Given the description of an element on the screen output the (x, y) to click on. 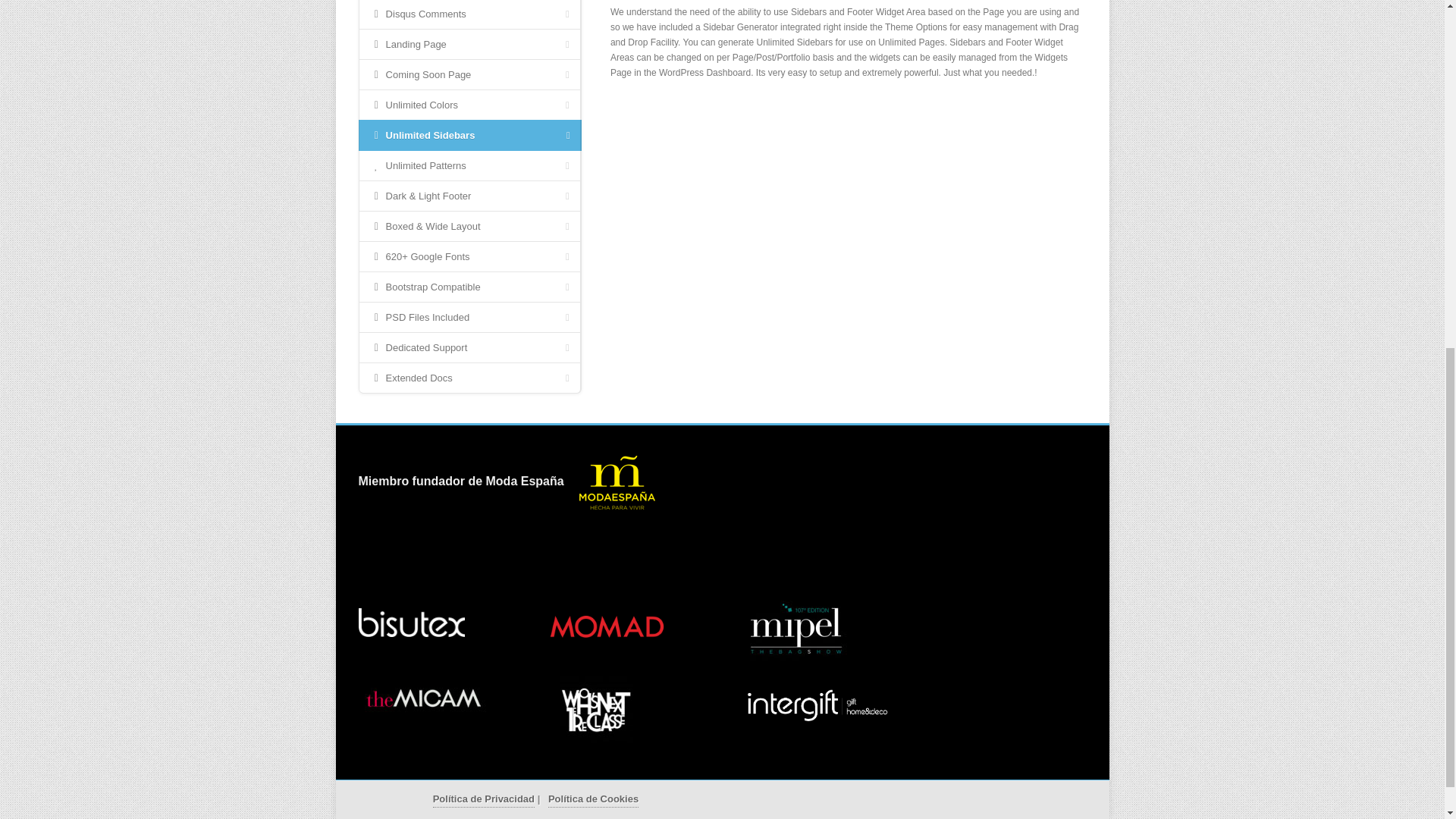
Unlimited Patterns (469, 164)
Landing Page (469, 43)
Unlimited Sidebars (469, 134)
Bootstrap Compatible (469, 286)
Dedicated Support (469, 347)
Unlimited Colors (469, 104)
PSD Files Included (469, 317)
Coming Soon Page (469, 74)
Disqus Comments (469, 14)
Extended Docs (469, 377)
